Given the description of an element on the screen output the (x, y) to click on. 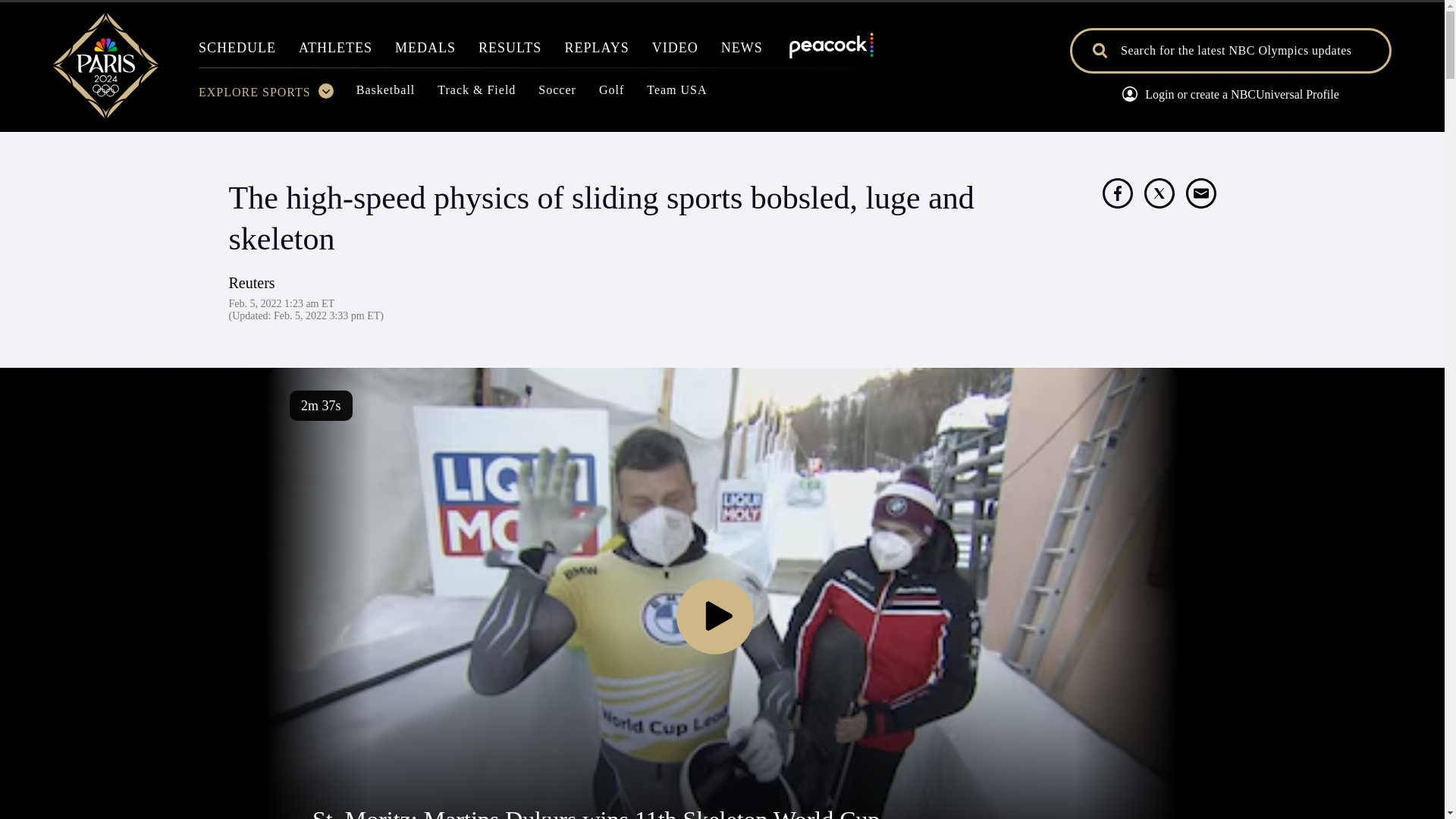
Login or create a NBCUniversal Profile (1229, 95)
Explore Sports (265, 95)
St. Moritz: Martins Dukurs wins 11th Skeleton World Cup (596, 812)
Basketball (385, 93)
Soccer (557, 93)
REPLAYS (596, 51)
ATHLETES (335, 51)
Team USA (676, 93)
